Given the description of an element on the screen output the (x, y) to click on. 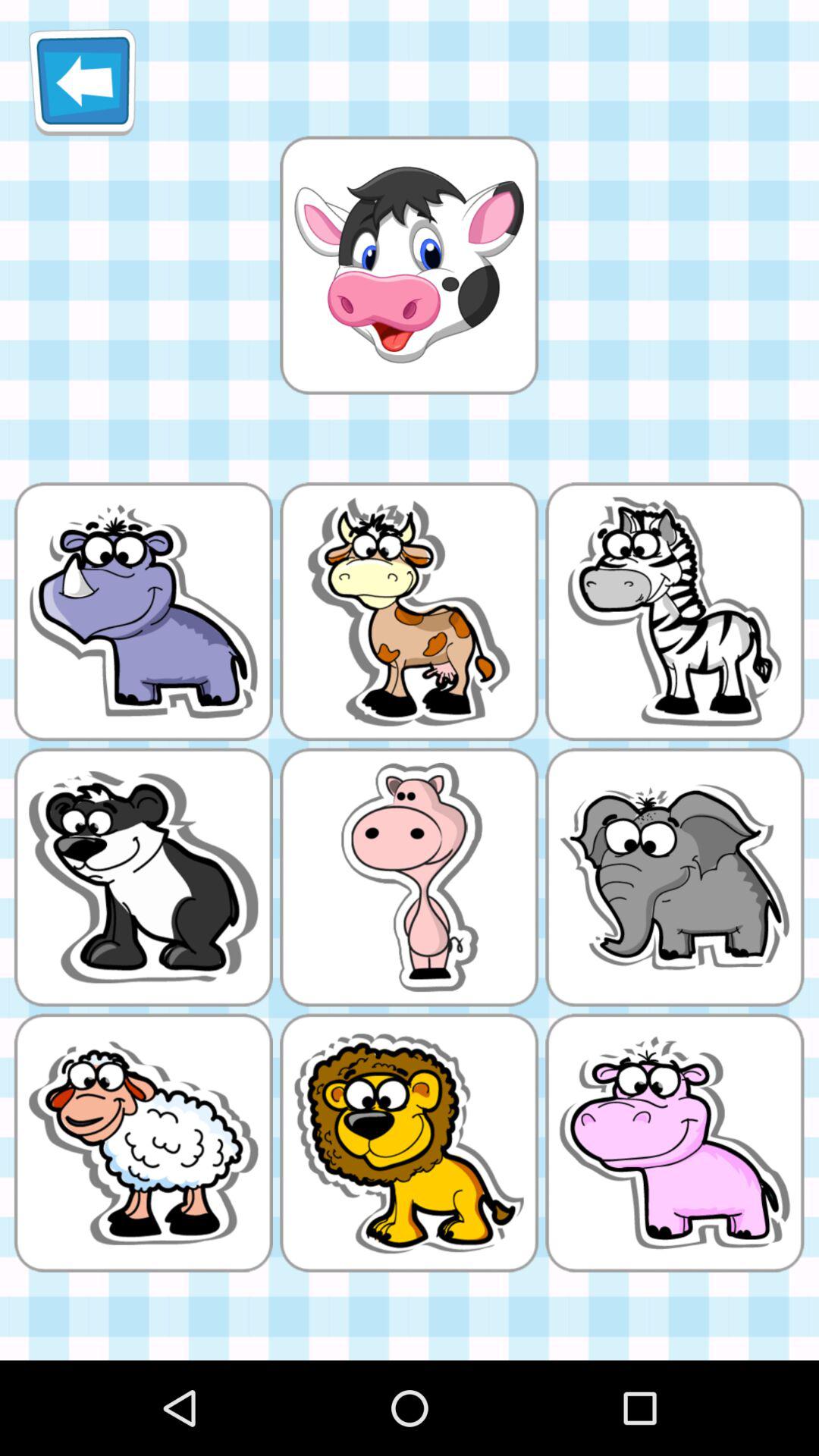
cow (408, 265)
